Given the description of an element on the screen output the (x, y) to click on. 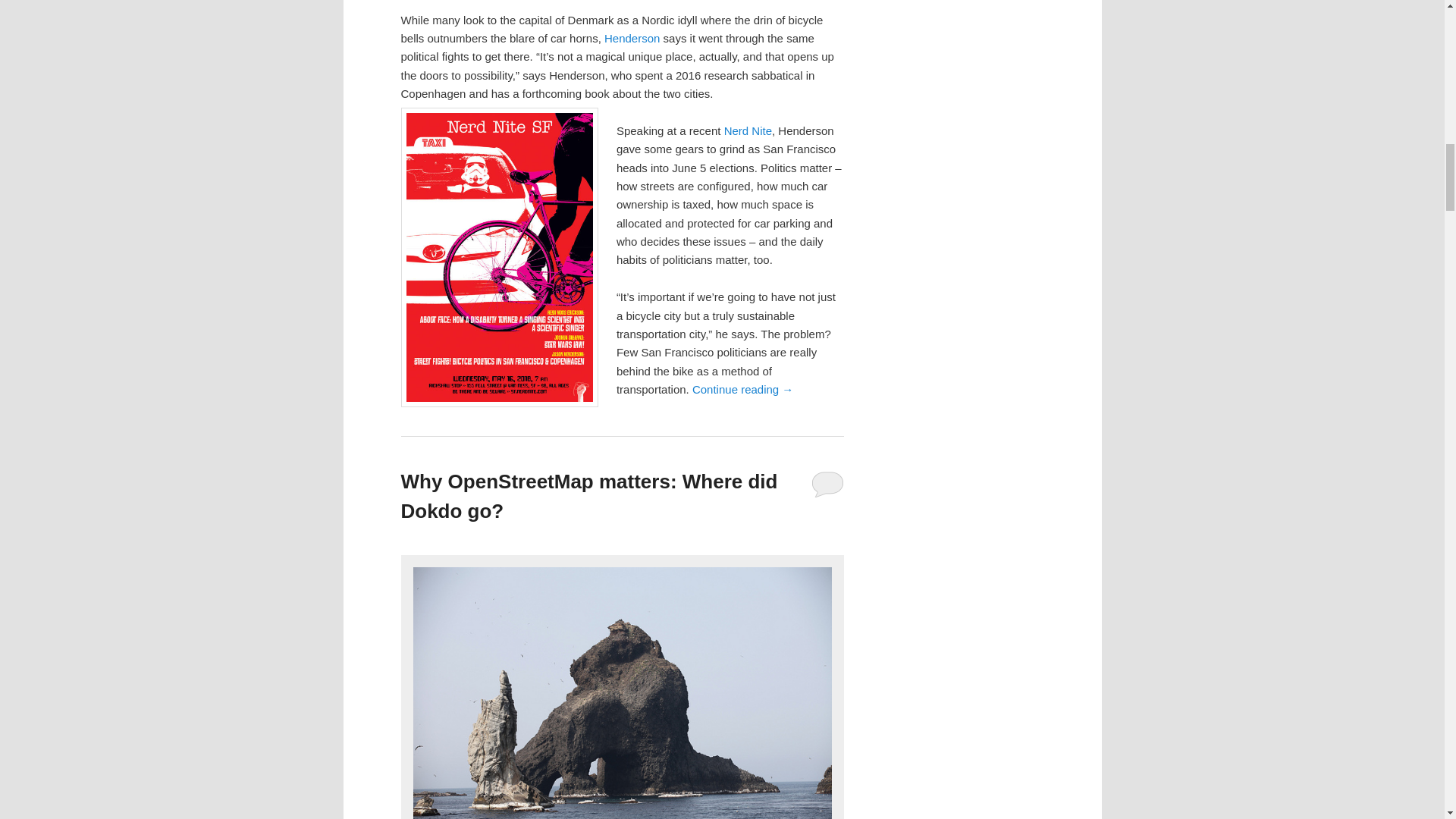
Henderson (631, 38)
